Given the description of an element on the screen output the (x, y) to click on. 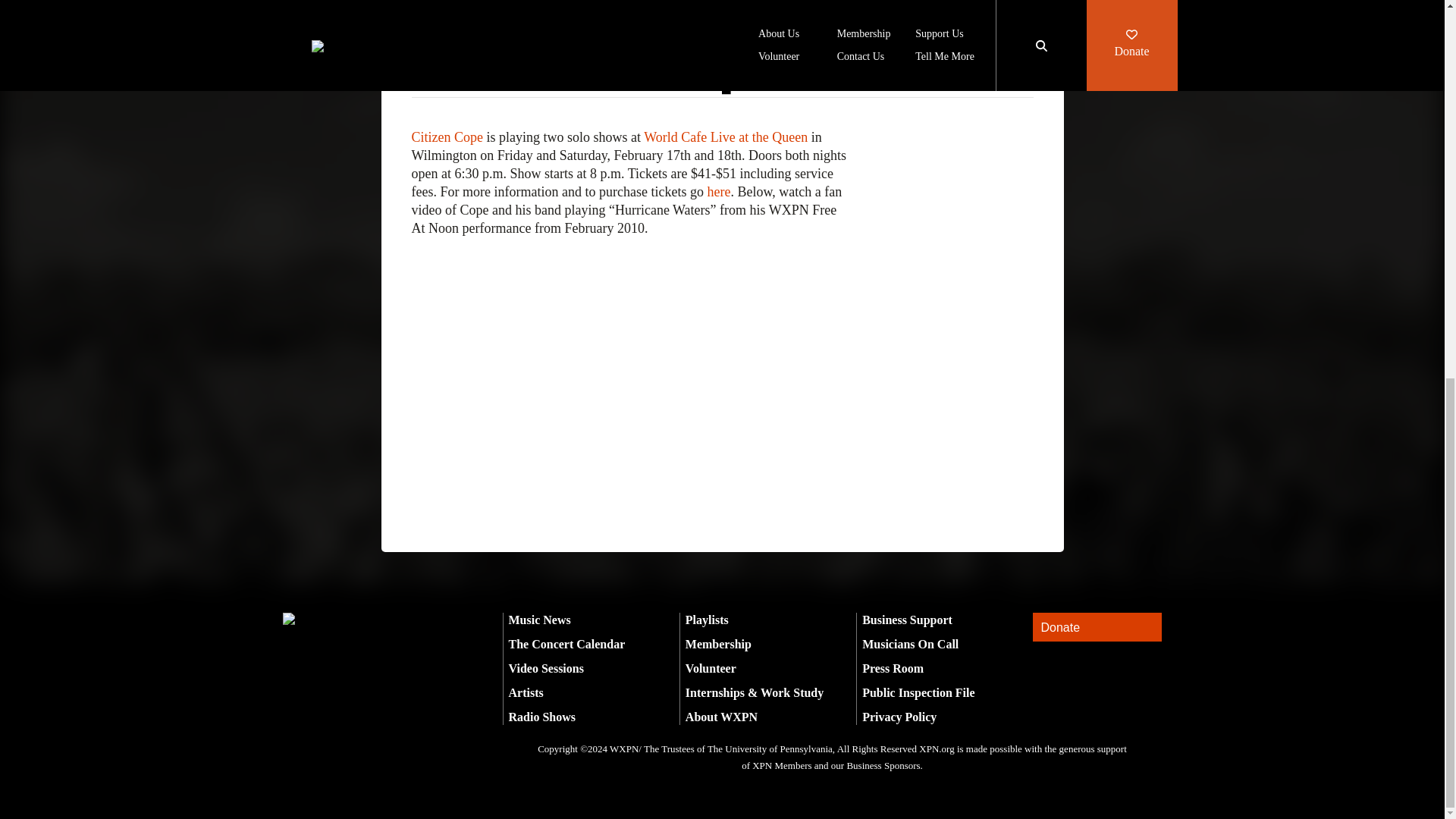
Business Support (906, 619)
Music News (539, 619)
Donate (1096, 626)
About WXPN (721, 716)
Volunteer (710, 667)
World Cafe Live at the Queen (725, 136)
Press Room (892, 667)
Privacy Policy (898, 716)
Artists (525, 692)
here (718, 191)
